Given the description of an element on the screen output the (x, y) to click on. 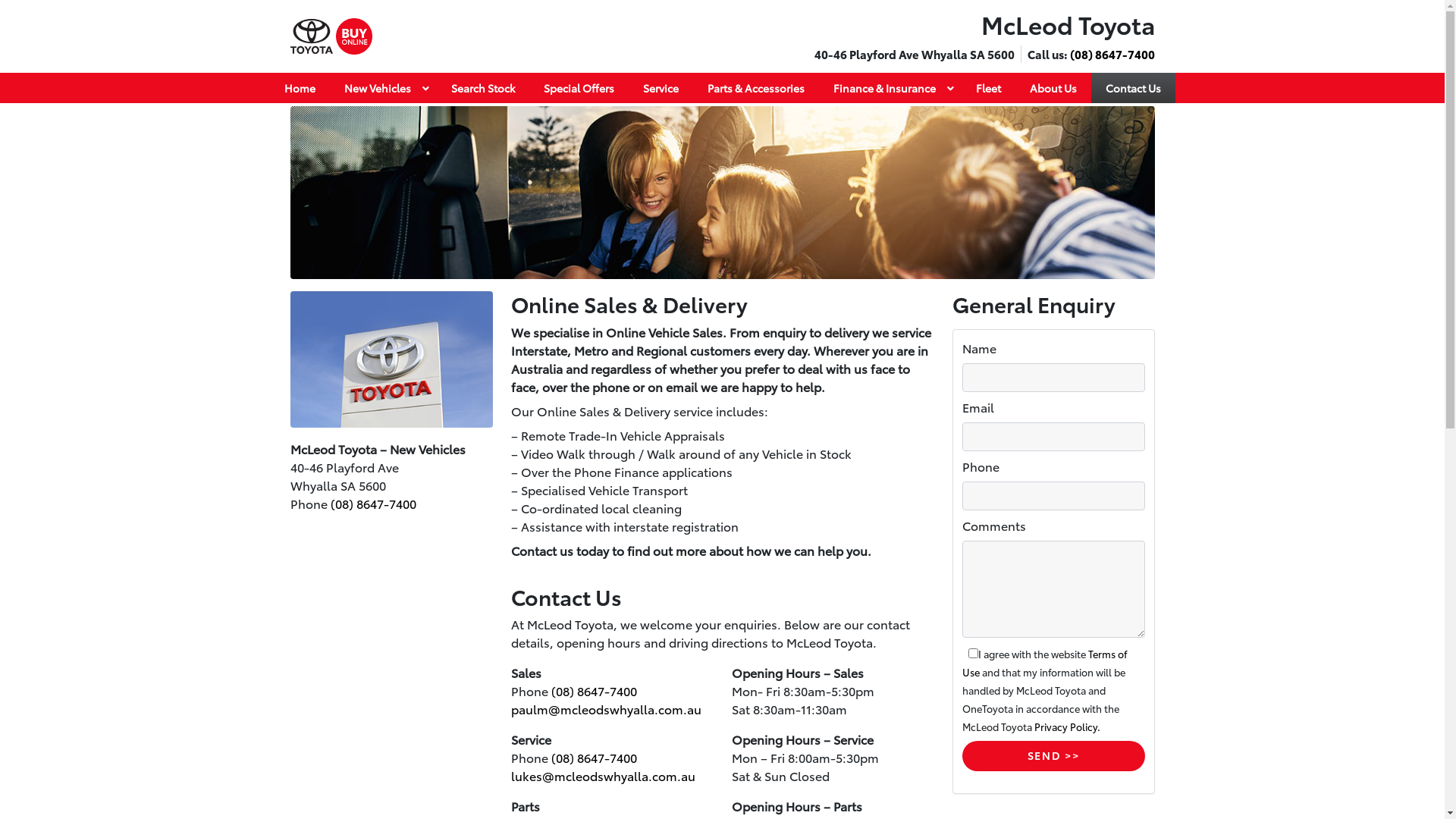
Search Stock Element type: text (482, 87)
Terms of Use Element type: text (1043, 662)
Special Offers Element type: text (578, 87)
Finance & Insurance Element type: text (890, 87)
Privacy Policy. Element type: text (1067, 726)
(08) 8647-7400 Element type: text (593, 756)
(08) 8647-7400 Element type: text (1111, 53)
Contact Us Element type: text (1132, 87)
About Us Element type: text (1052, 87)
Fleet Element type: text (988, 87)
(08) 8647-7400 Element type: text (593, 690)
New Vehicles Element type: text (382, 87)
paulm@mcleodswhyalla.com.au Element type: text (606, 708)
Parts & Accessories Element type: text (756, 87)
Home Element type: text (299, 87)
(08) 8647-7400 Element type: text (373, 502)
Send >> Element type: text (1052, 755)
lukes@mcleodswhyalla.com.au Element type: text (603, 775)
Service Element type: text (659, 87)
